Given the description of an element on the screen output the (x, y) to click on. 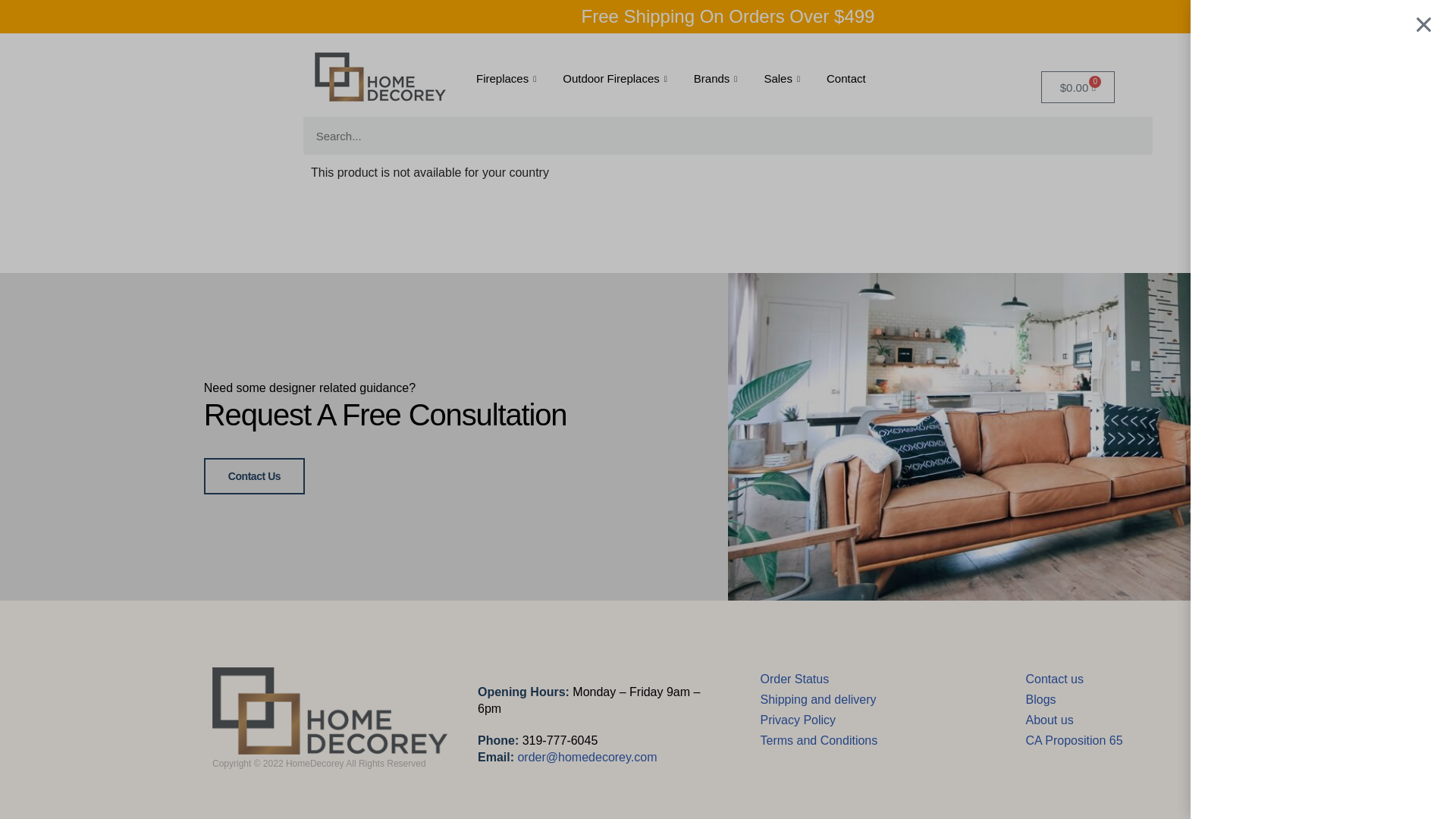
Fireplaces (507, 78)
Outdoor Fireplaces (616, 78)
Skip to content (11, 31)
